Given the description of an element on the screen output the (x, y) to click on. 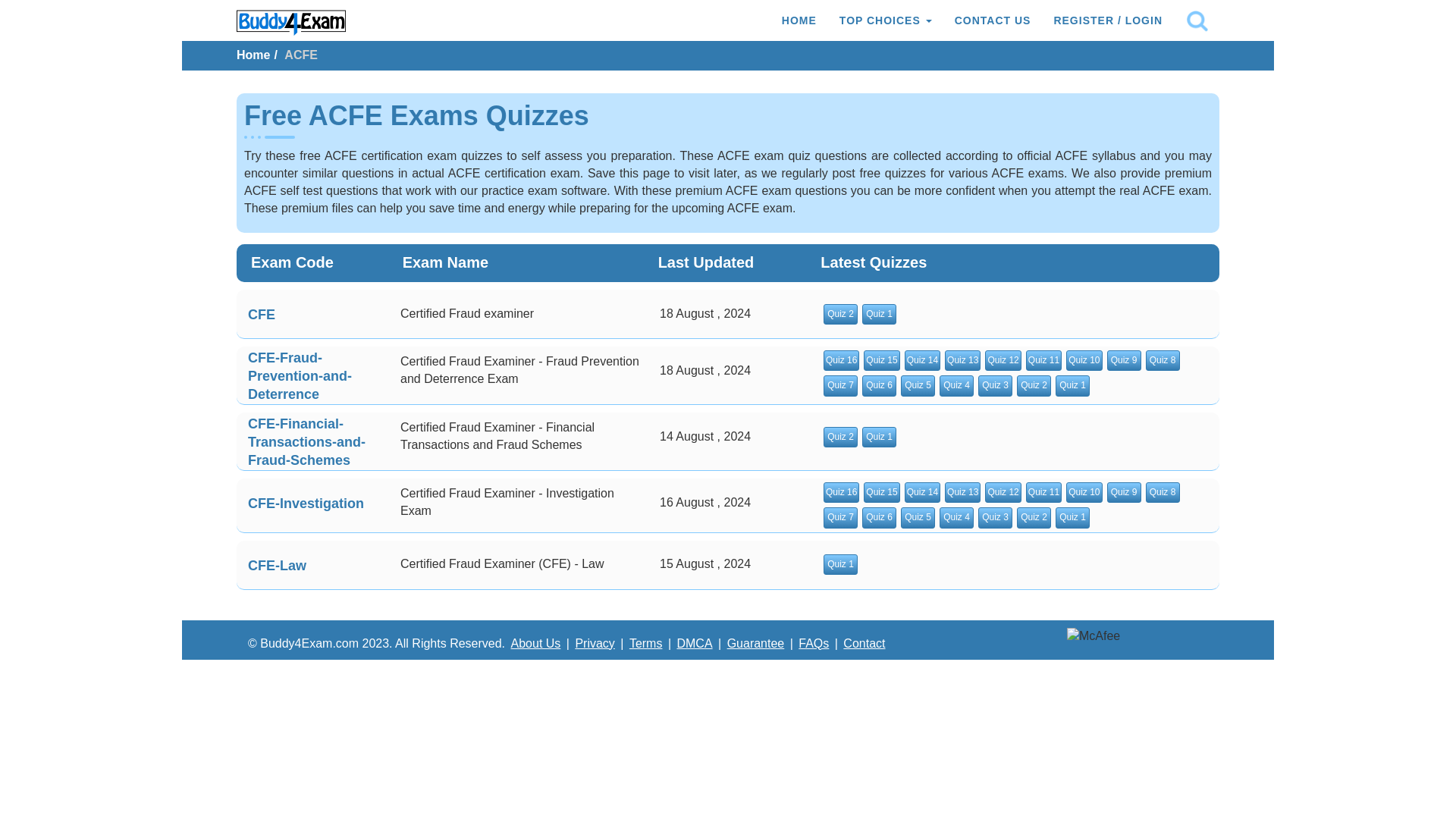
Quiz 6 (878, 385)
Quiz 1 (1072, 385)
Quiz 7 (840, 385)
HOME (799, 20)
Quiz 3 (994, 385)
Home (252, 54)
Quiz 16 (841, 360)
Quiz 2 (840, 313)
Quiz 13 (961, 360)
Quiz 2 (1033, 385)
